Given the description of an element on the screen output the (x, y) to click on. 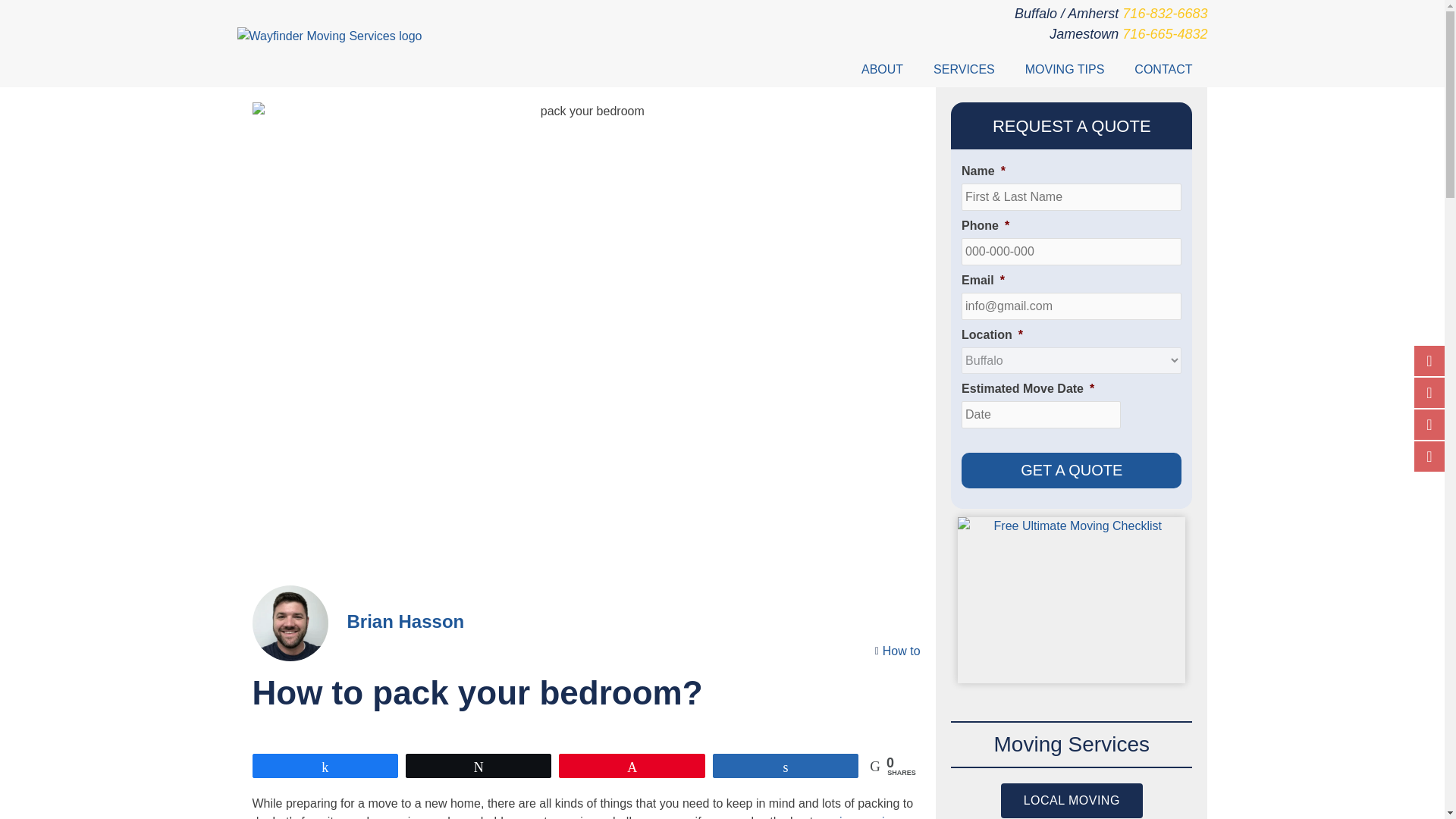
Wayfinder Moving Contact Page (1163, 69)
Wayfinder Moving Blog Archive (1064, 69)
716-665-4832 (1164, 33)
GET A QUOTE (1070, 470)
ABOUT (881, 69)
716-832-6683 (1164, 13)
Wayfinder Moving Services (964, 69)
SERVICES (964, 69)
MOVING TIPS (1064, 69)
CONTACT (1163, 69)
